Given the description of an element on the screen output the (x, y) to click on. 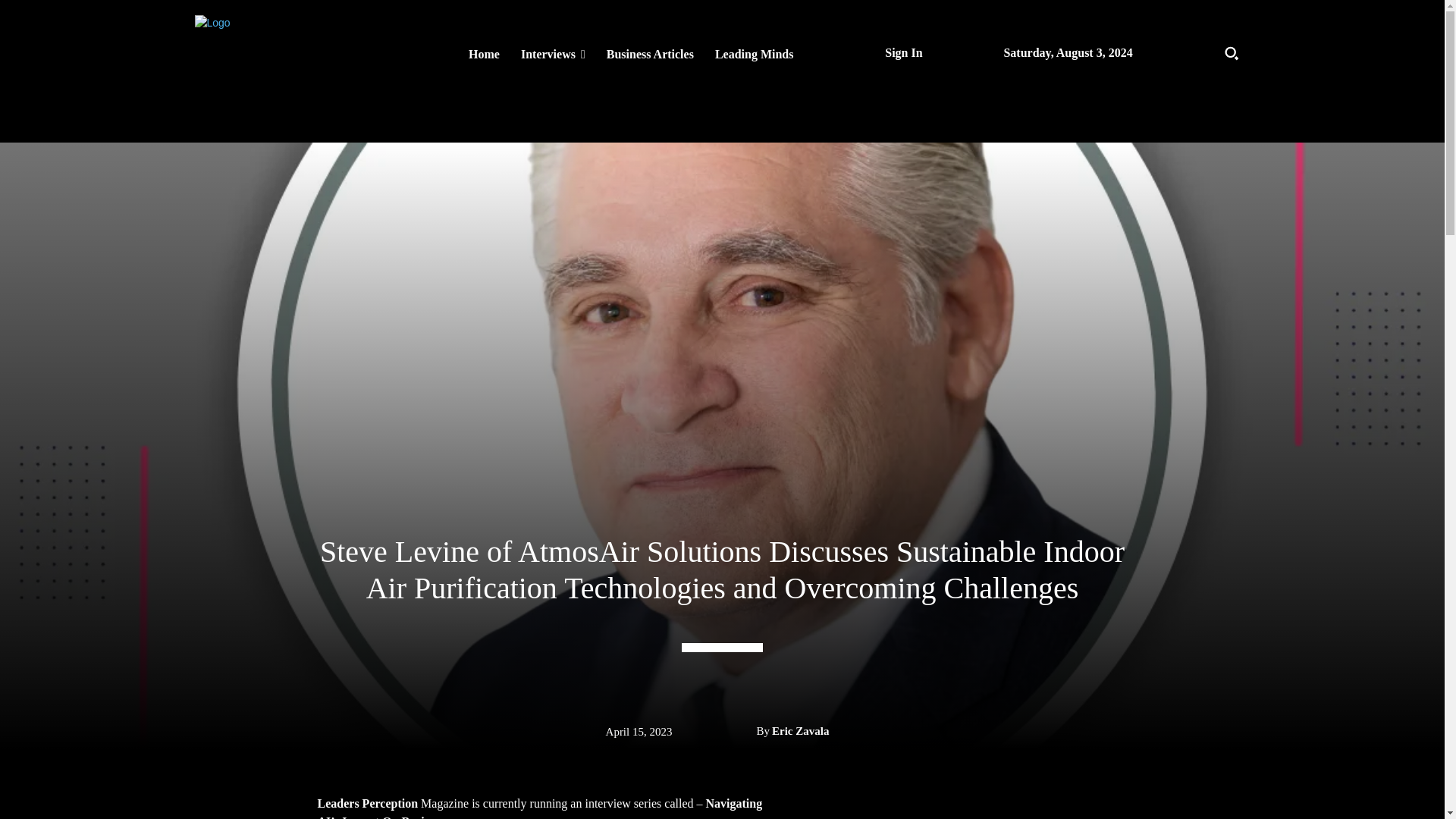
Interviews (553, 53)
Home (484, 53)
Eric Zavala (799, 730)
Leading Minds (754, 53)
Business Articles (649, 53)
Sign In (903, 52)
